Given the description of an element on the screen output the (x, y) to click on. 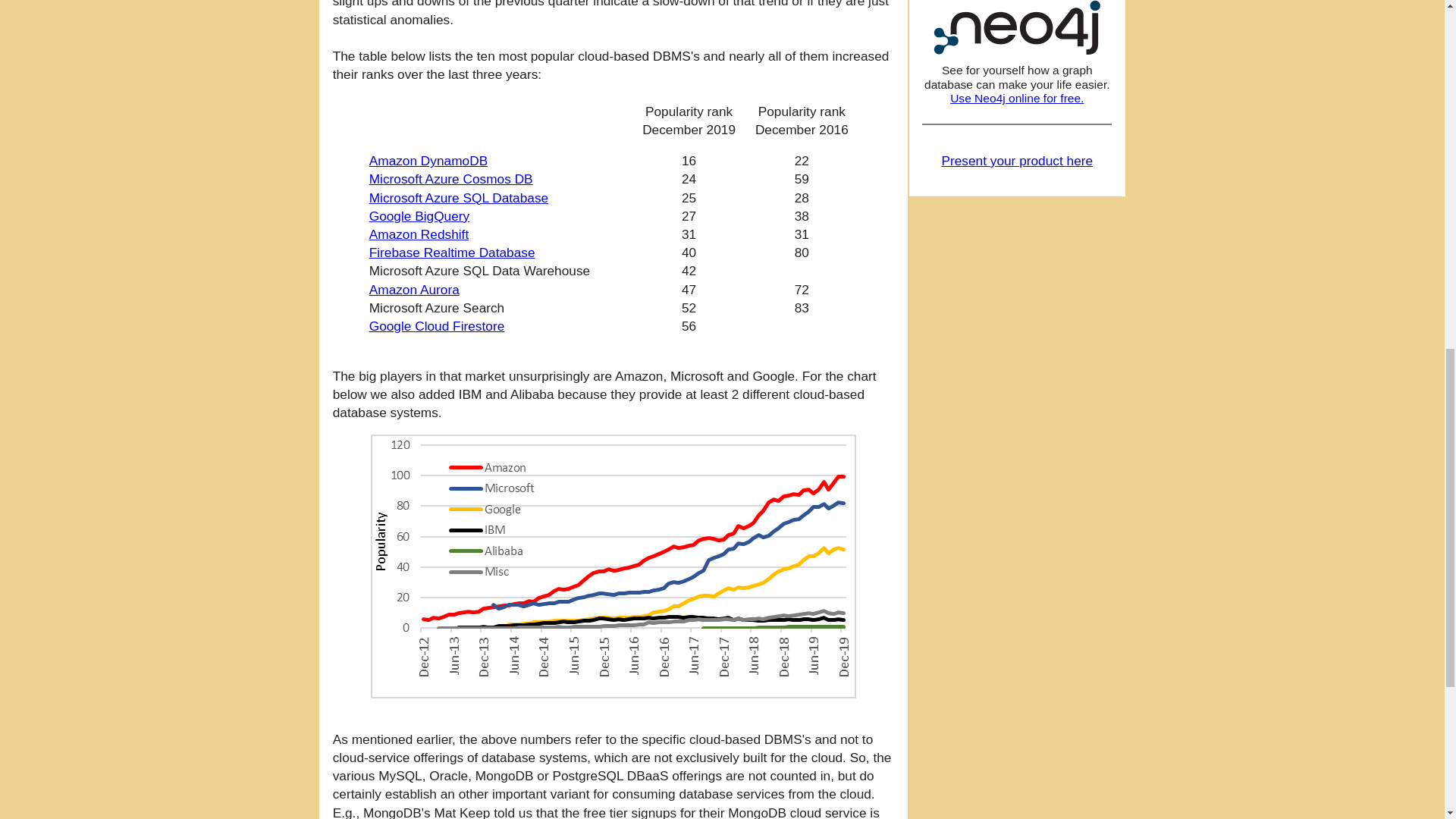
Google BigQuery (418, 215)
Microsoft Azure SQL Database (458, 197)
Amazon Redshift (418, 233)
Microsoft Azure Cosmos DB (450, 178)
Amazon DynamoDB (428, 160)
